Given the description of an element on the screen output the (x, y) to click on. 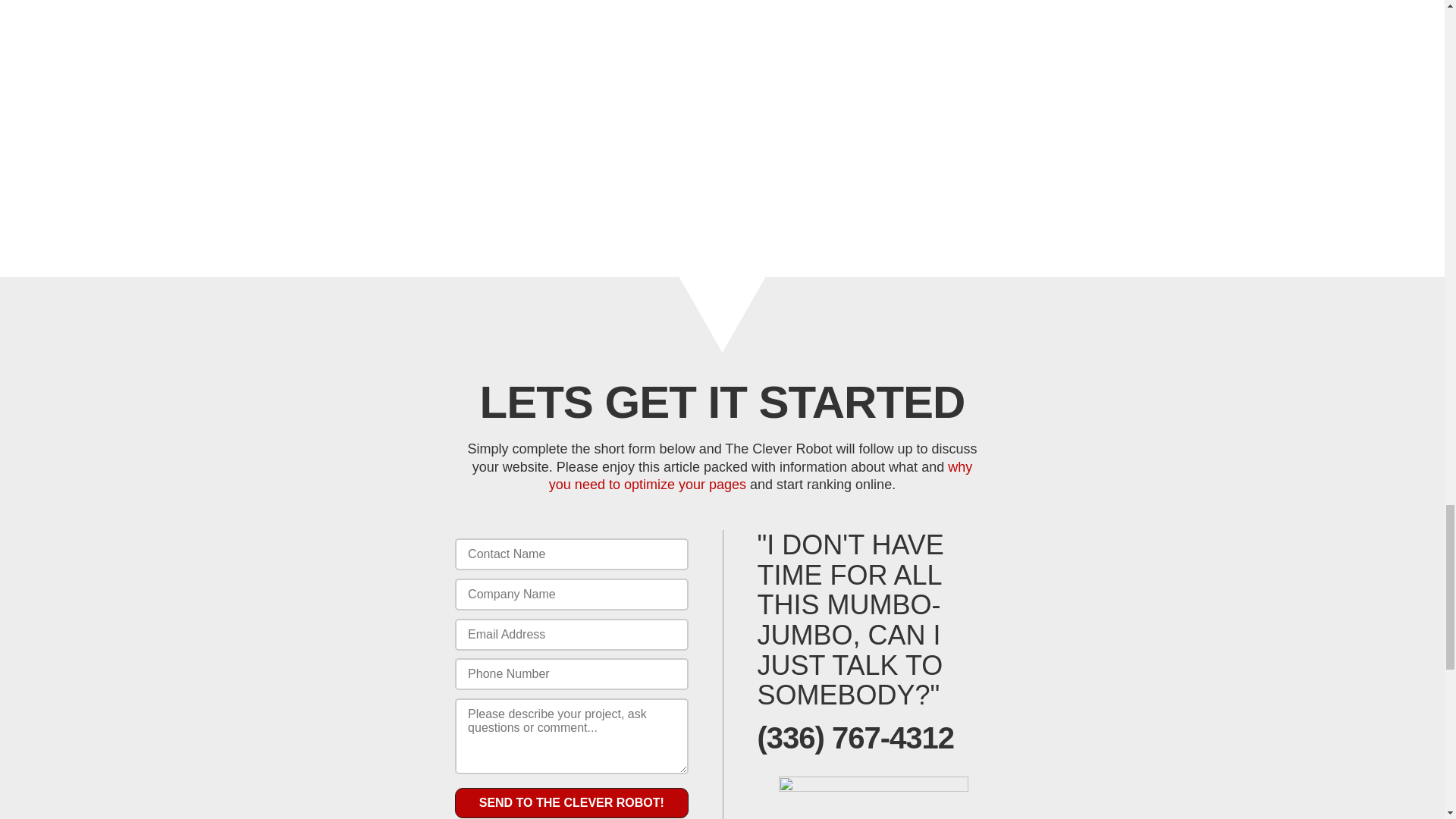
Send To The Clever Robot! (570, 802)
